Given the description of an element on the screen output the (x, y) to click on. 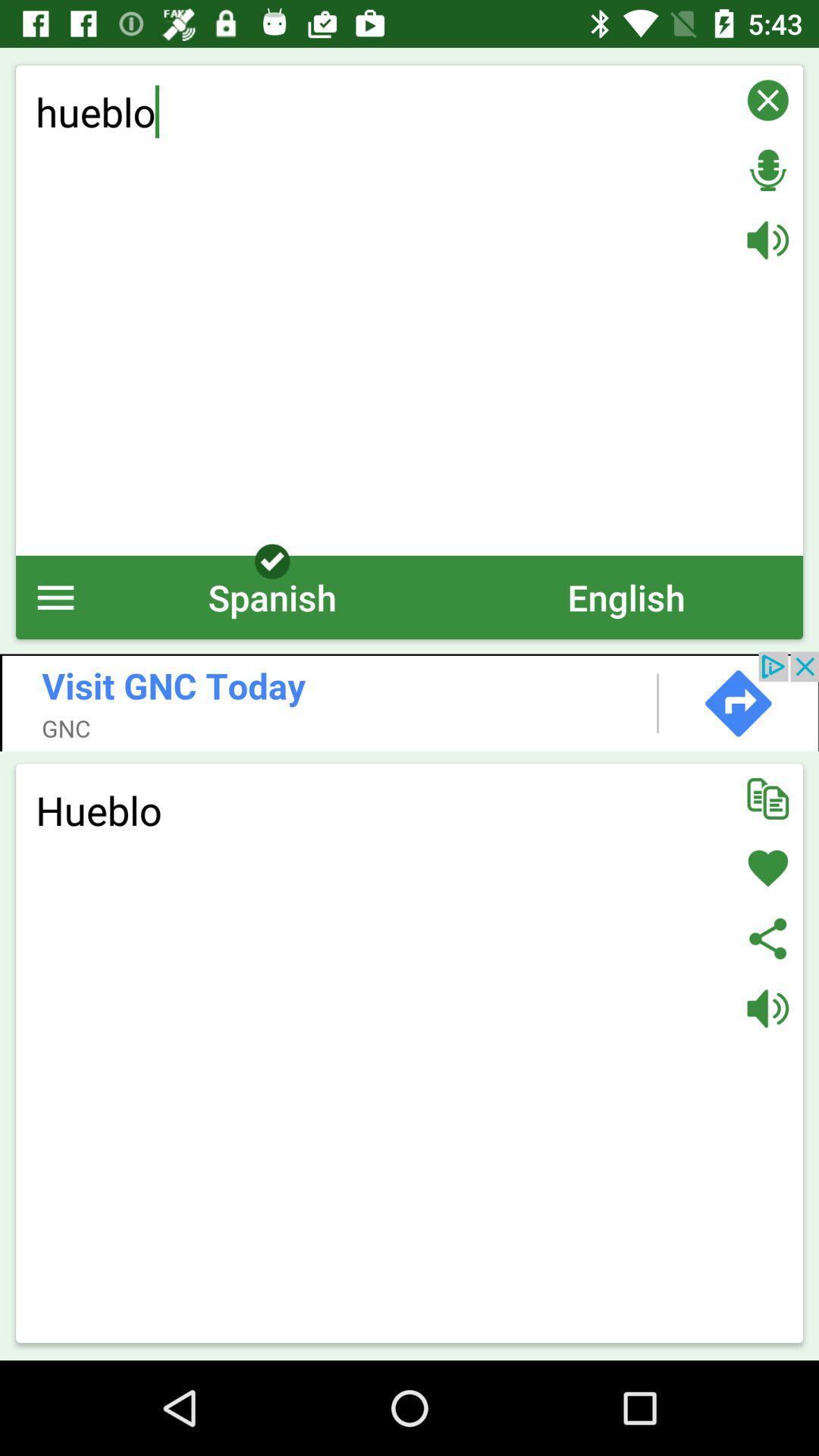
share (768, 938)
